Given the description of an element on the screen output the (x, y) to click on. 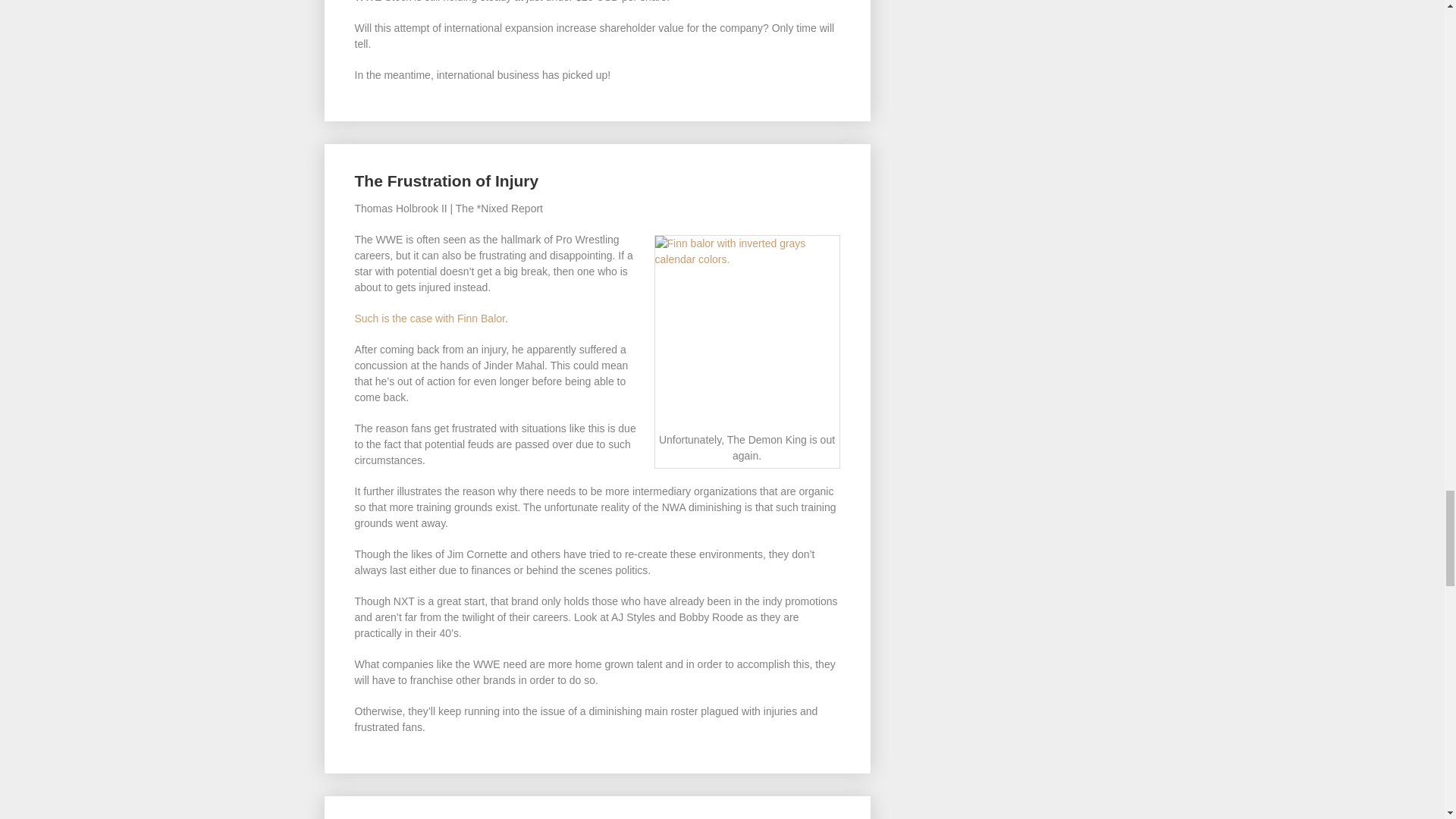
The Frustration of Injury (446, 180)
